Given the description of an element on the screen output the (x, y) to click on. 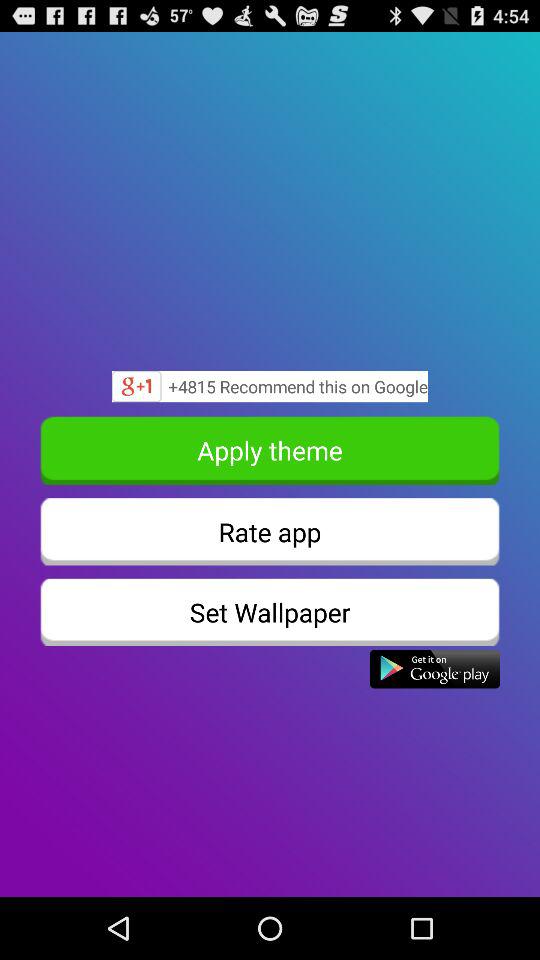
select button below the rate app button (269, 611)
